Given the description of an element on the screen output the (x, y) to click on. 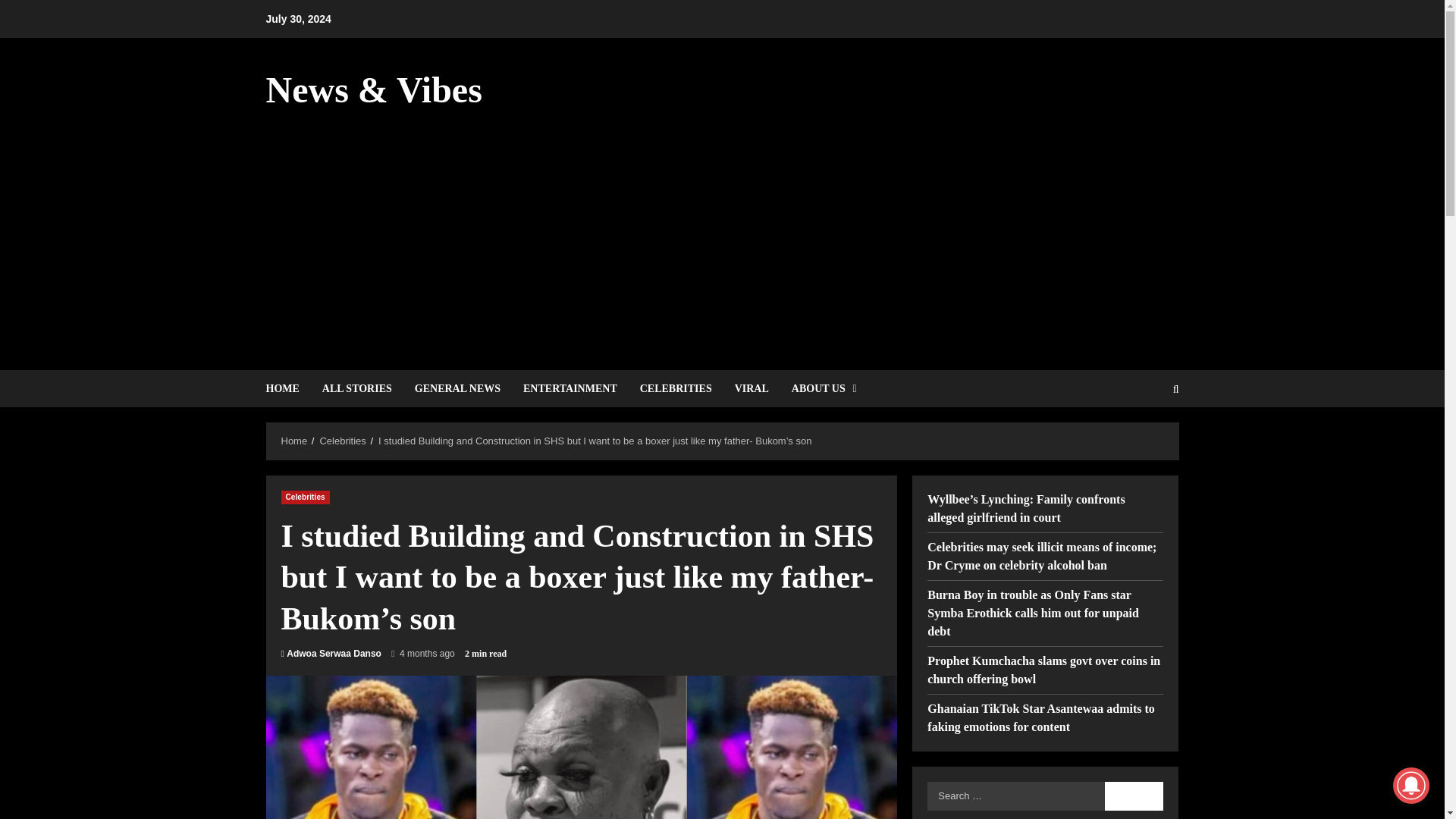
Adwoa Serwaa Danso (333, 653)
Search (1134, 795)
ALL STORIES (357, 388)
Search (1139, 440)
Celebrities (305, 496)
ENTERTAINMENT (570, 388)
ABOUT US (818, 388)
HOME (287, 388)
Celebrities (341, 440)
Search (1134, 795)
GENERAL NEWS (457, 388)
VIRAL (751, 388)
Home (294, 440)
